Given the description of an element on the screen output the (x, y) to click on. 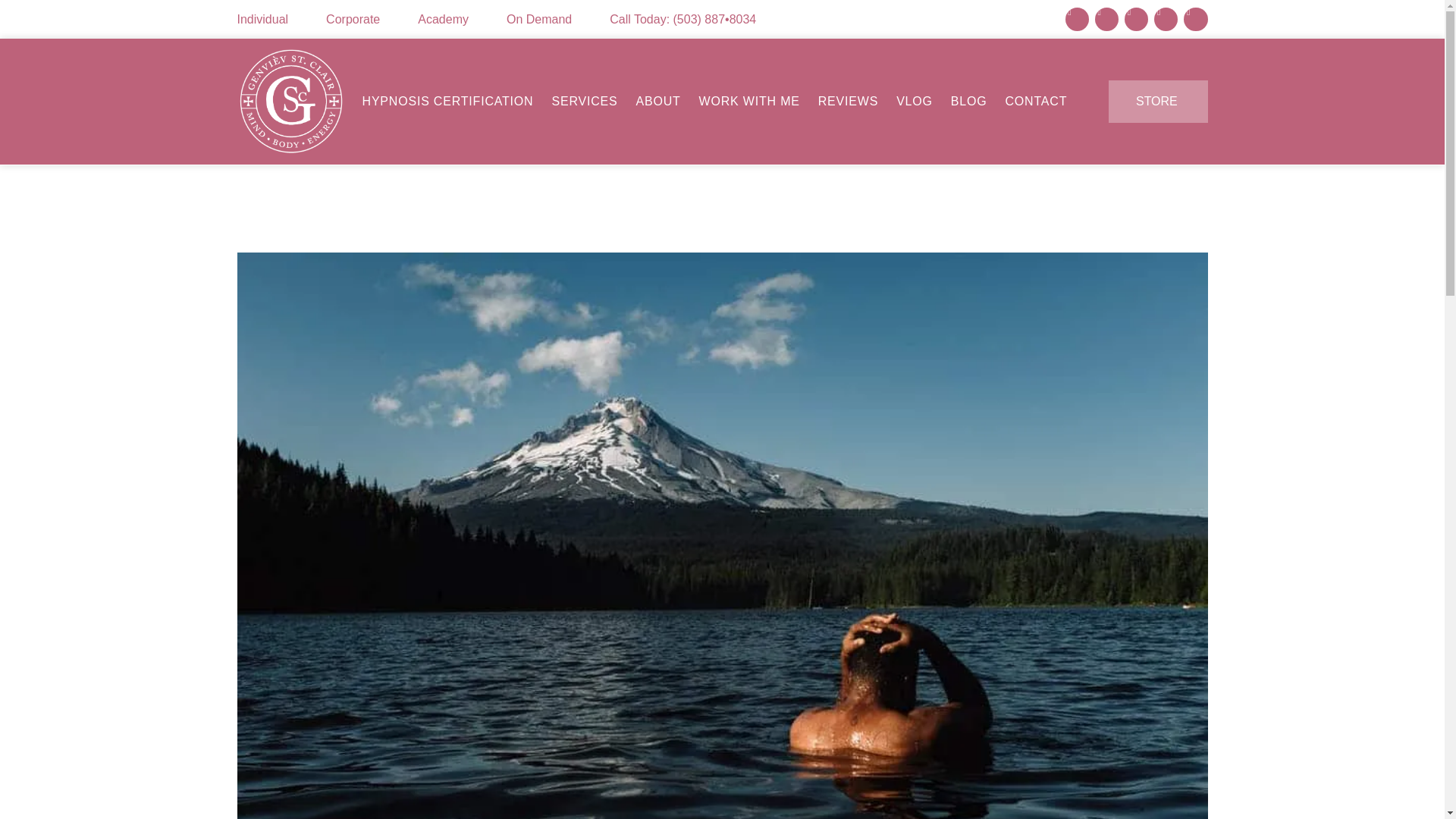
STORE (1157, 101)
BLOG (969, 101)
WORK WITH ME (749, 101)
HYPNOSIS CERTIFICATION (447, 101)
CONTACT (1035, 101)
On Demand (539, 19)
Academy (442, 19)
ABOUT (657, 101)
Corporate (353, 19)
VLOG (914, 101)
